Given the description of an element on the screen output the (x, y) to click on. 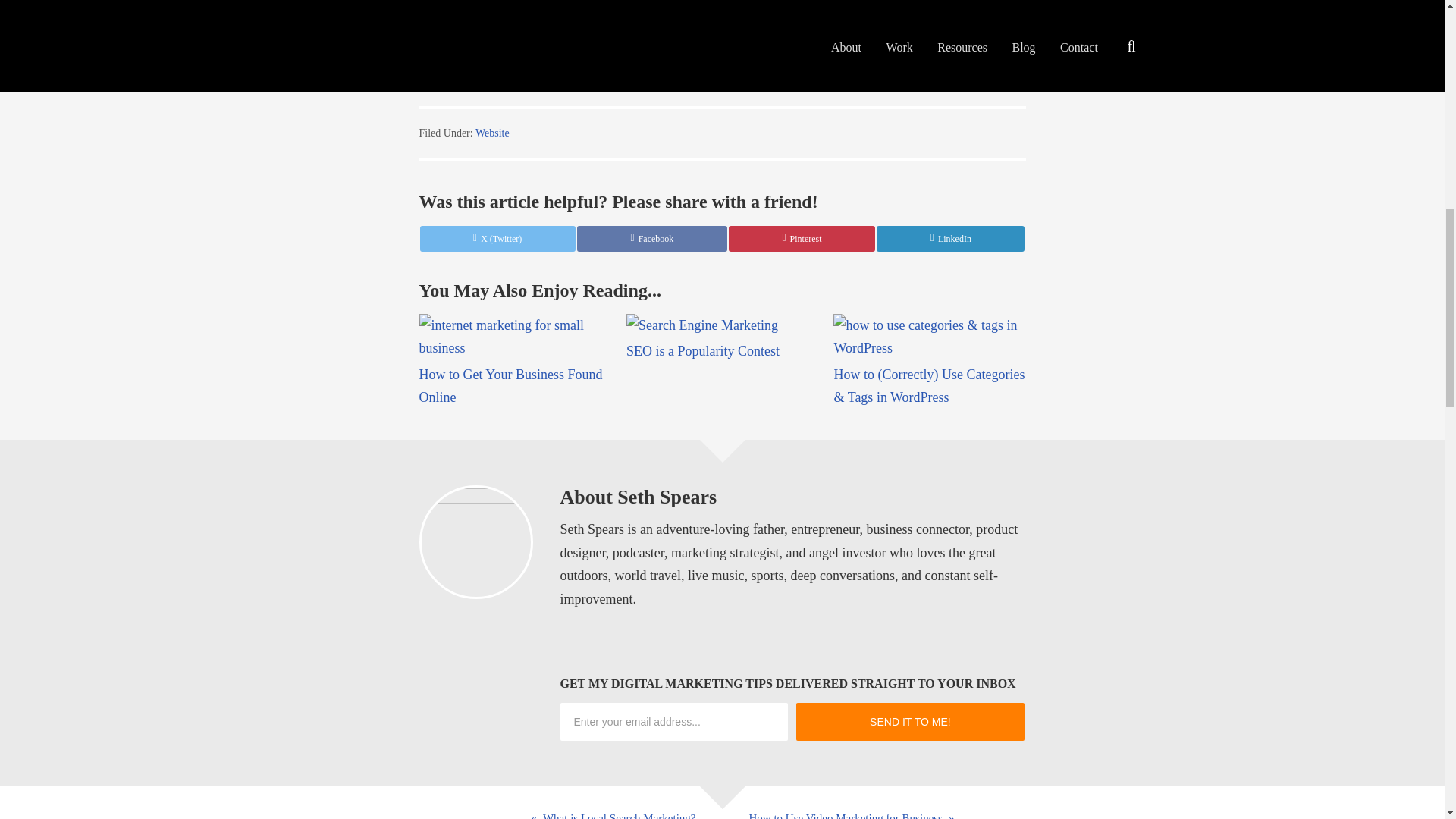
How to Get Your Business Found Online 2 (514, 336)
LinkedIn (950, 238)
Facebook (651, 238)
Send it to Me! (910, 721)
SEO is a Popularity Contest (702, 350)
What is Local Search Marketing? (361, 802)
Send it to Me! (910, 721)
Pinterest (802, 238)
Website (492, 132)
How to Get Your Business Found Online (510, 385)
